Given the description of an element on the screen output the (x, y) to click on. 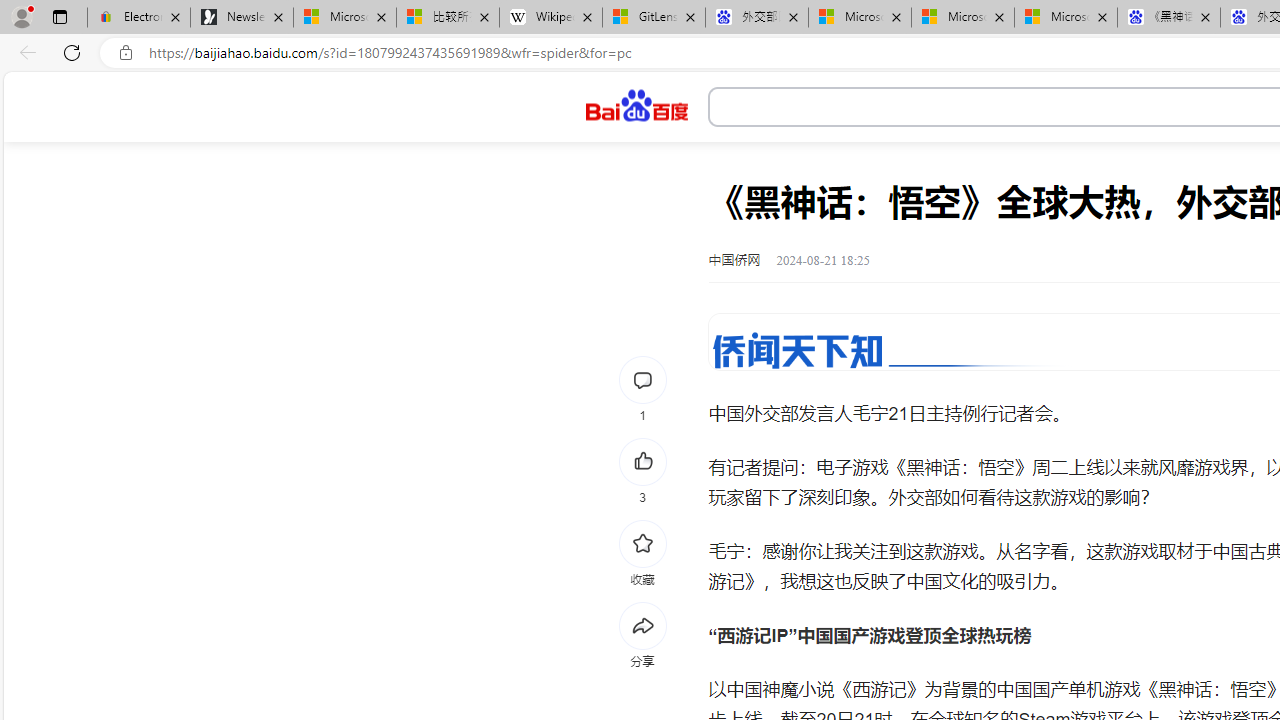
Wikipedia (550, 17)
Electronics, Cars, Fashion, Collectibles & More | eBay (138, 17)
